Given the description of an element on the screen output the (x, y) to click on. 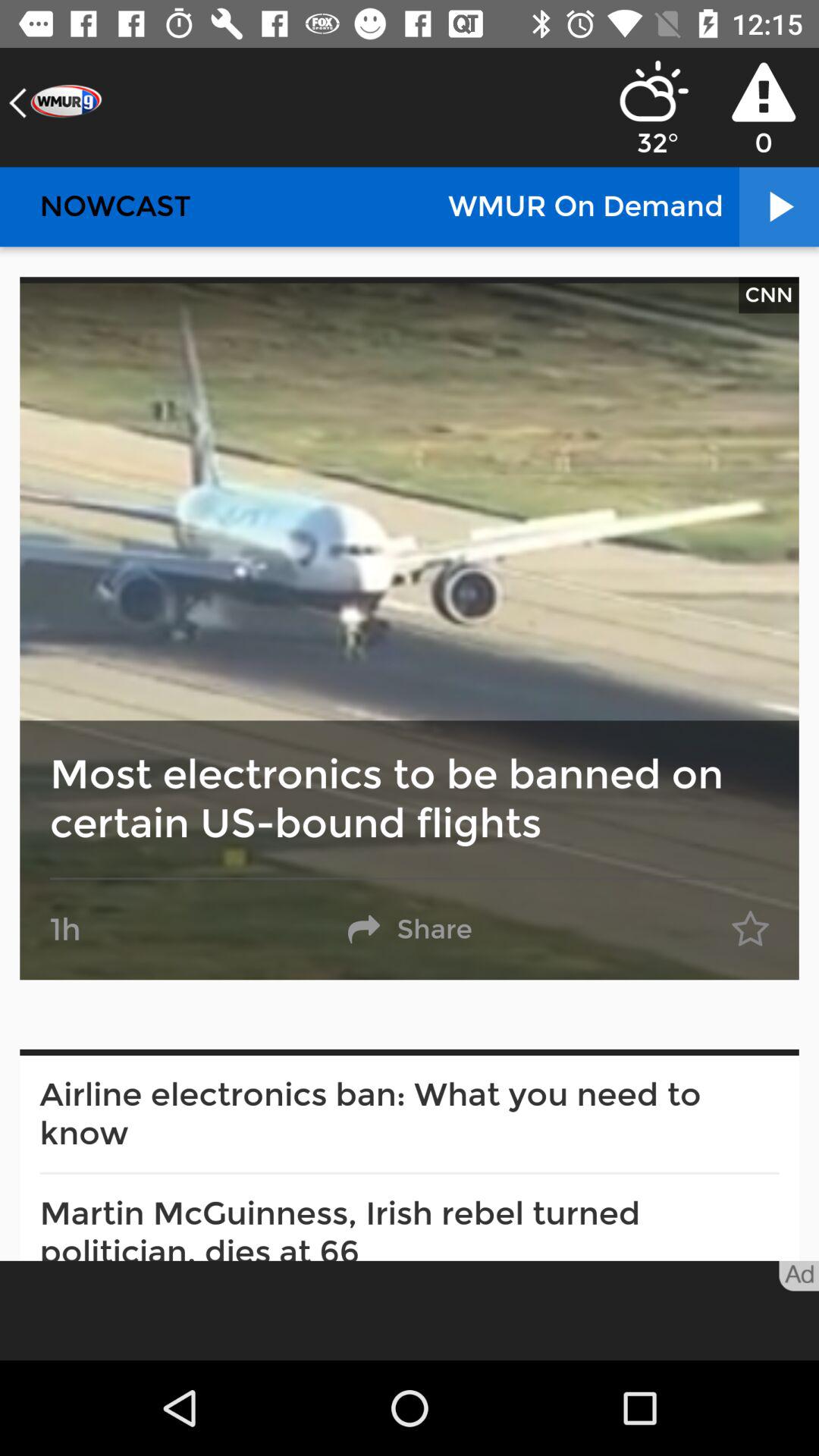
click on the star symbol which is beside share (750, 929)
select the icon which is above 32 degree on a page (654, 90)
click on the next page icon (778, 206)
